Given the description of an element on the screen output the (x, y) to click on. 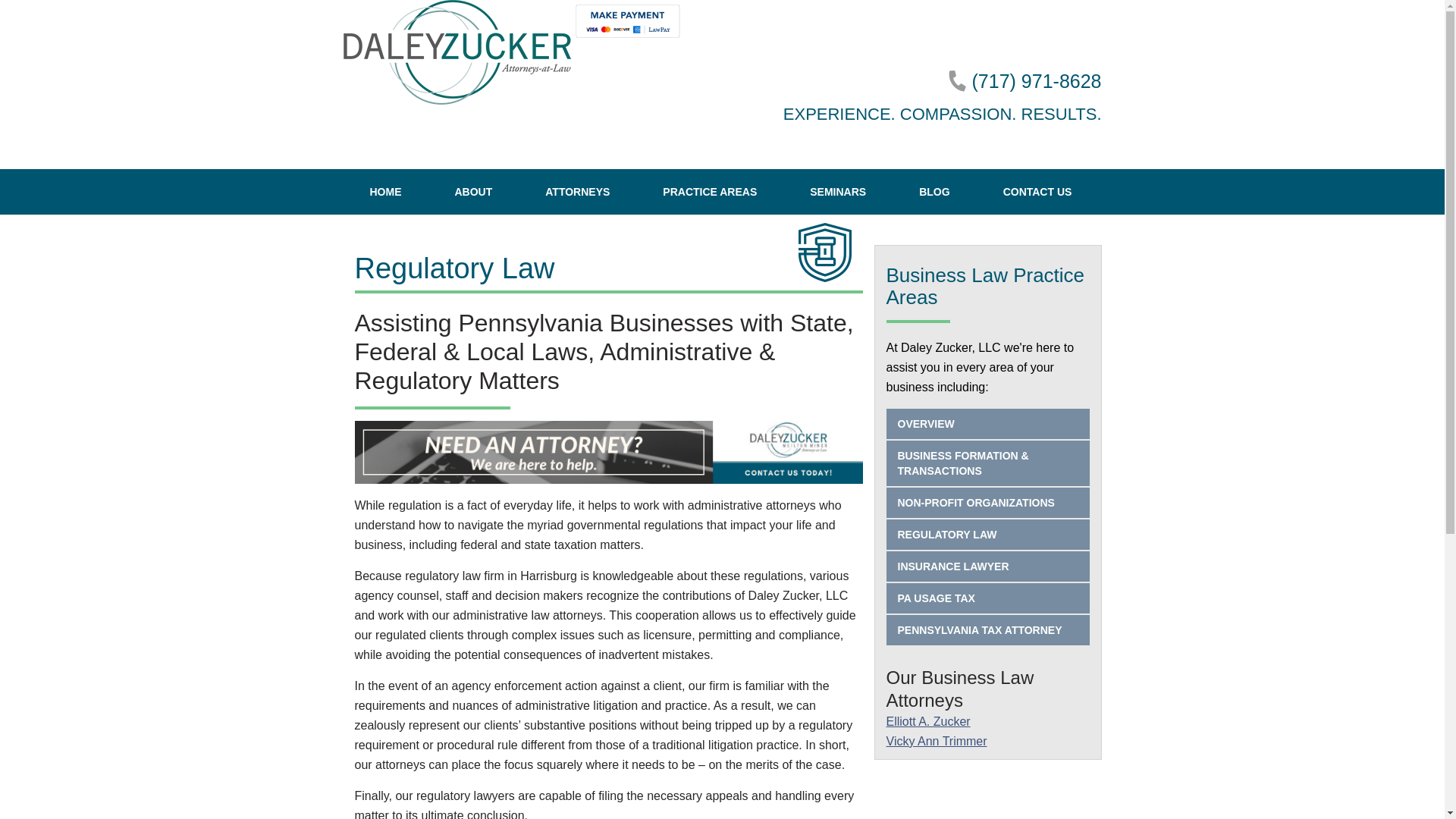
PRACTICE AREAS (709, 191)
ABOUT (473, 191)
ATTORNEYS (577, 191)
HOME (385, 191)
